Given the description of an element on the screen output the (x, y) to click on. 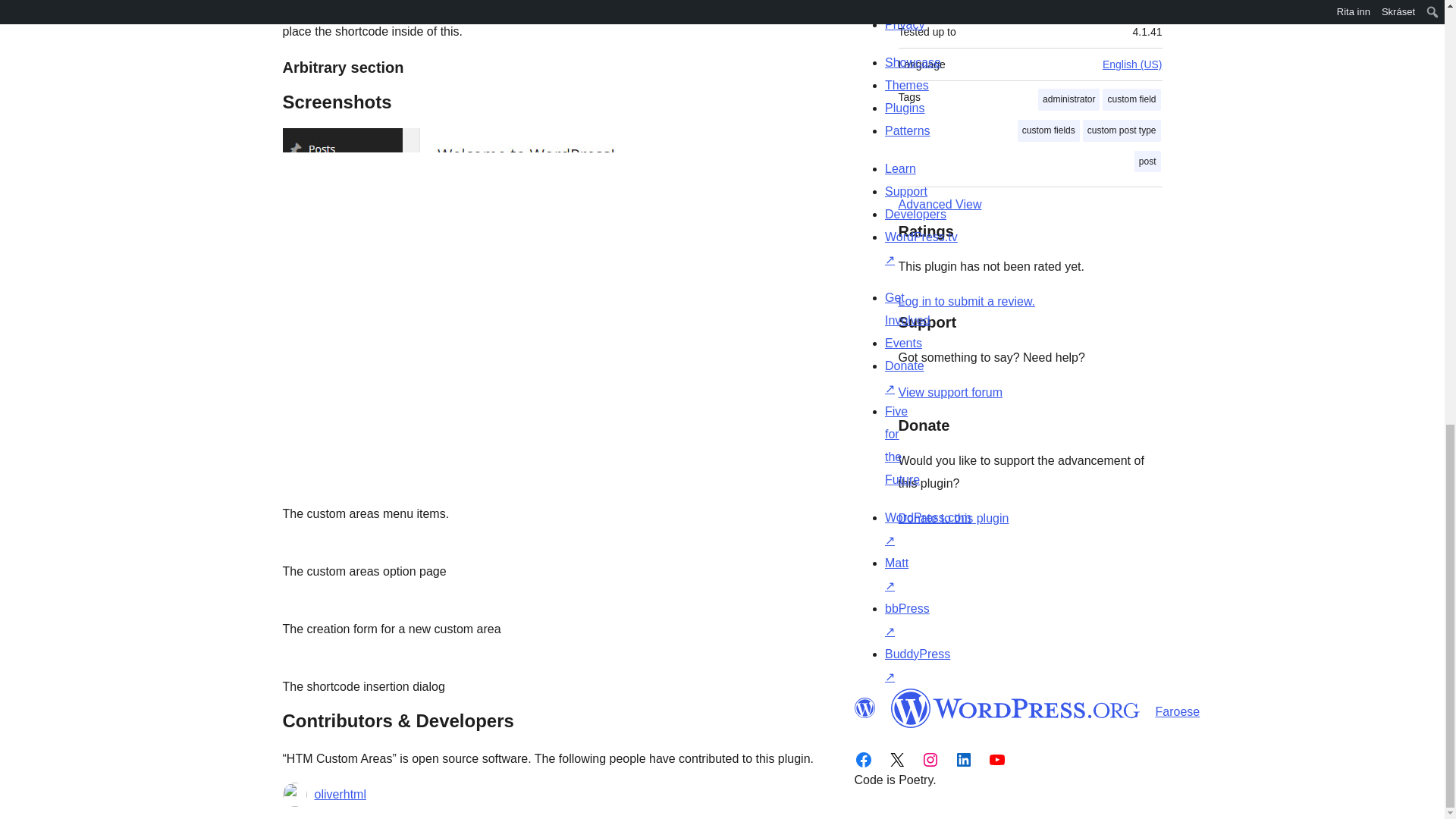
WordPress.org (864, 708)
oliverhtml (339, 793)
WordPress.org (1014, 708)
Log in to WordPress.org (966, 300)
